Given the description of an element on the screen output the (x, y) to click on. 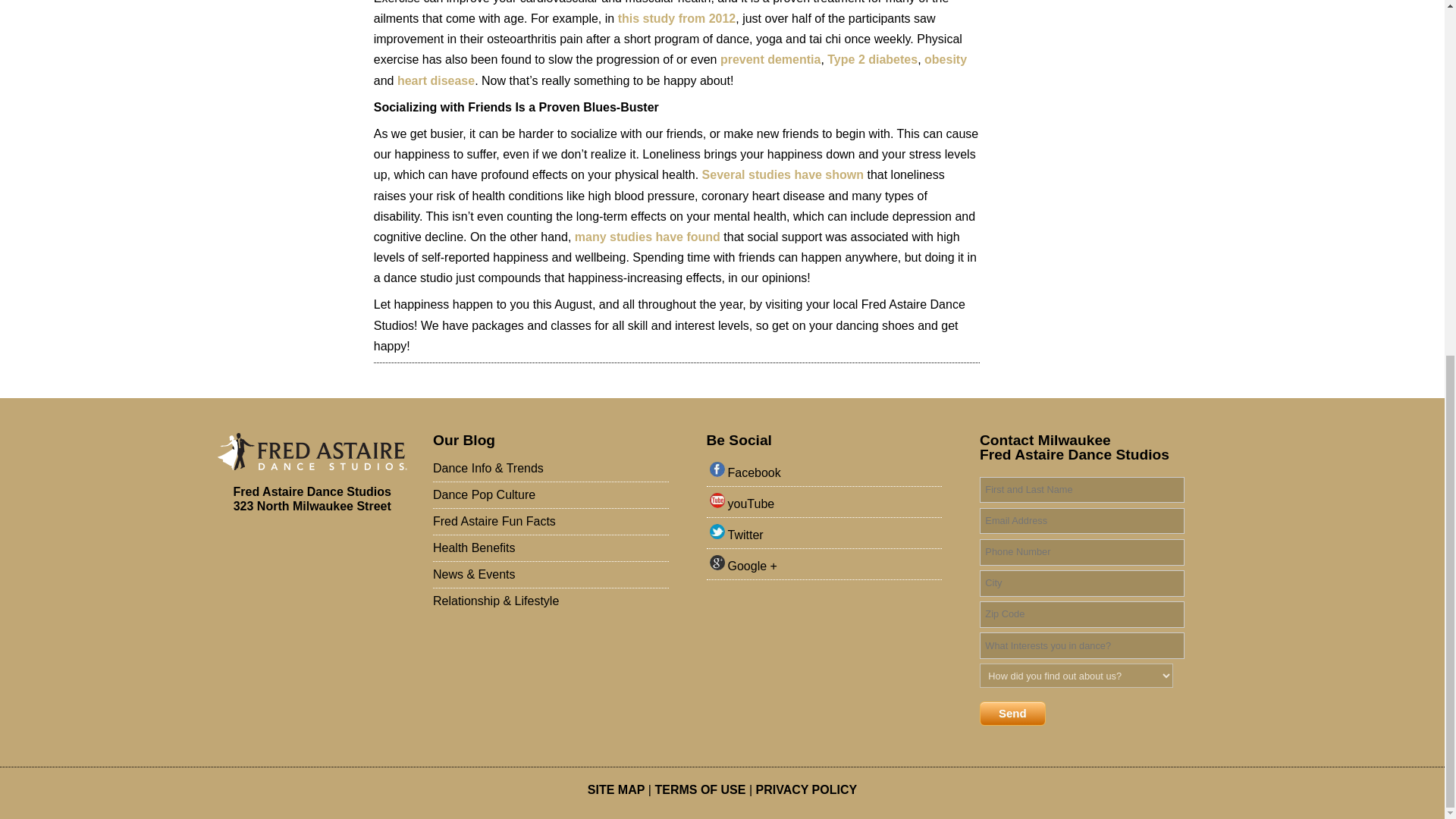
this study from 2012 (676, 18)
Health Benefits (550, 548)
Fred Astaire Fun Facts (550, 521)
obesity (945, 59)
watch us on YouTube (827, 505)
Dance Pop Culture (550, 495)
Several studies have shown (782, 174)
youTube (827, 505)
find us on facebook (827, 473)
Send (1012, 713)
